Given the description of an element on the screen output the (x, y) to click on. 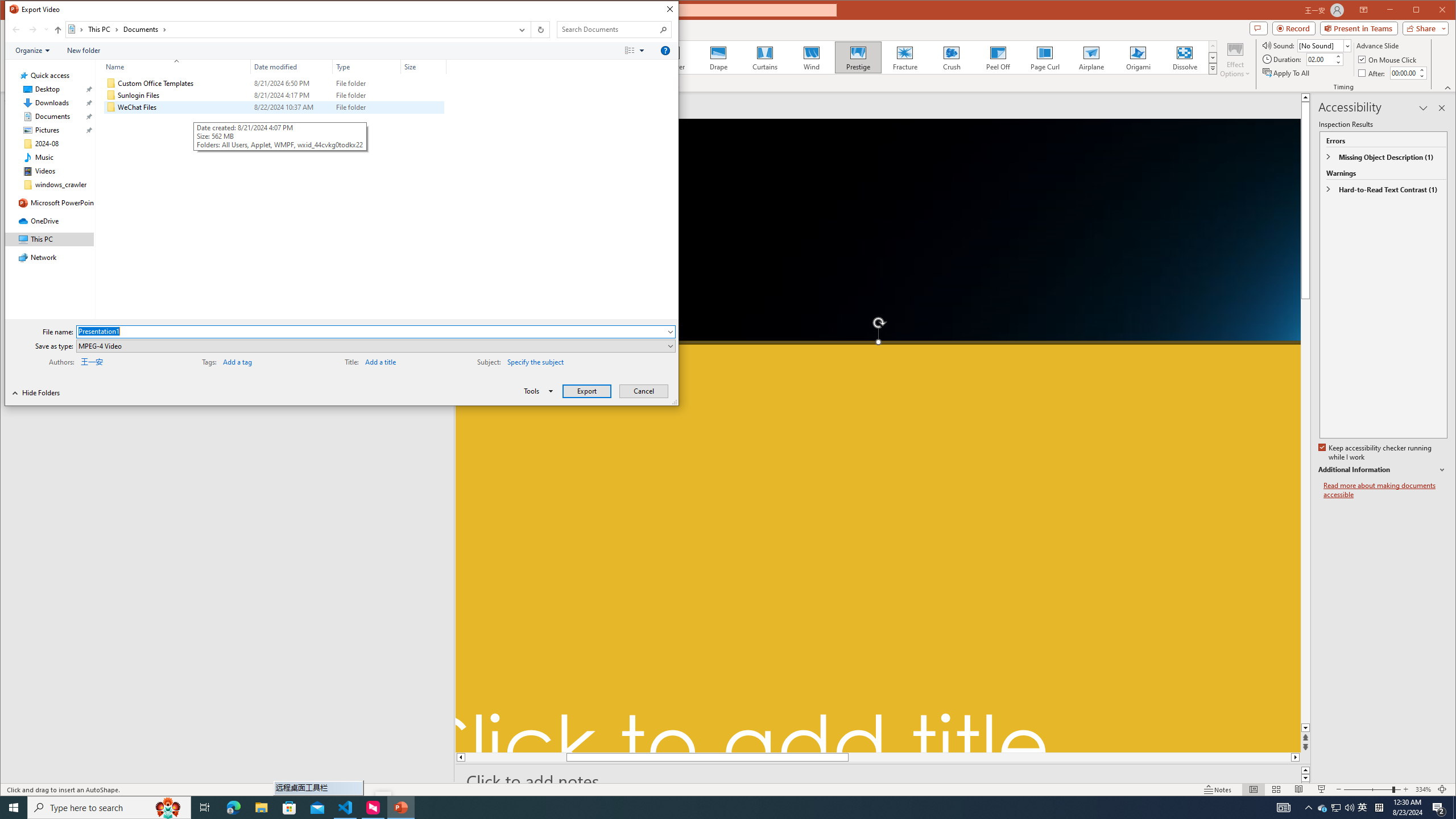
Apply To All (1286, 72)
Date modified (291, 107)
Prestige (857, 57)
Subject (589, 361)
Curtains (764, 57)
WeChat Files (273, 107)
Fracture (904, 57)
Type (366, 66)
Address: Documents (288, 29)
Up band toolbar (57, 31)
